Given the description of an element on the screen output the (x, y) to click on. 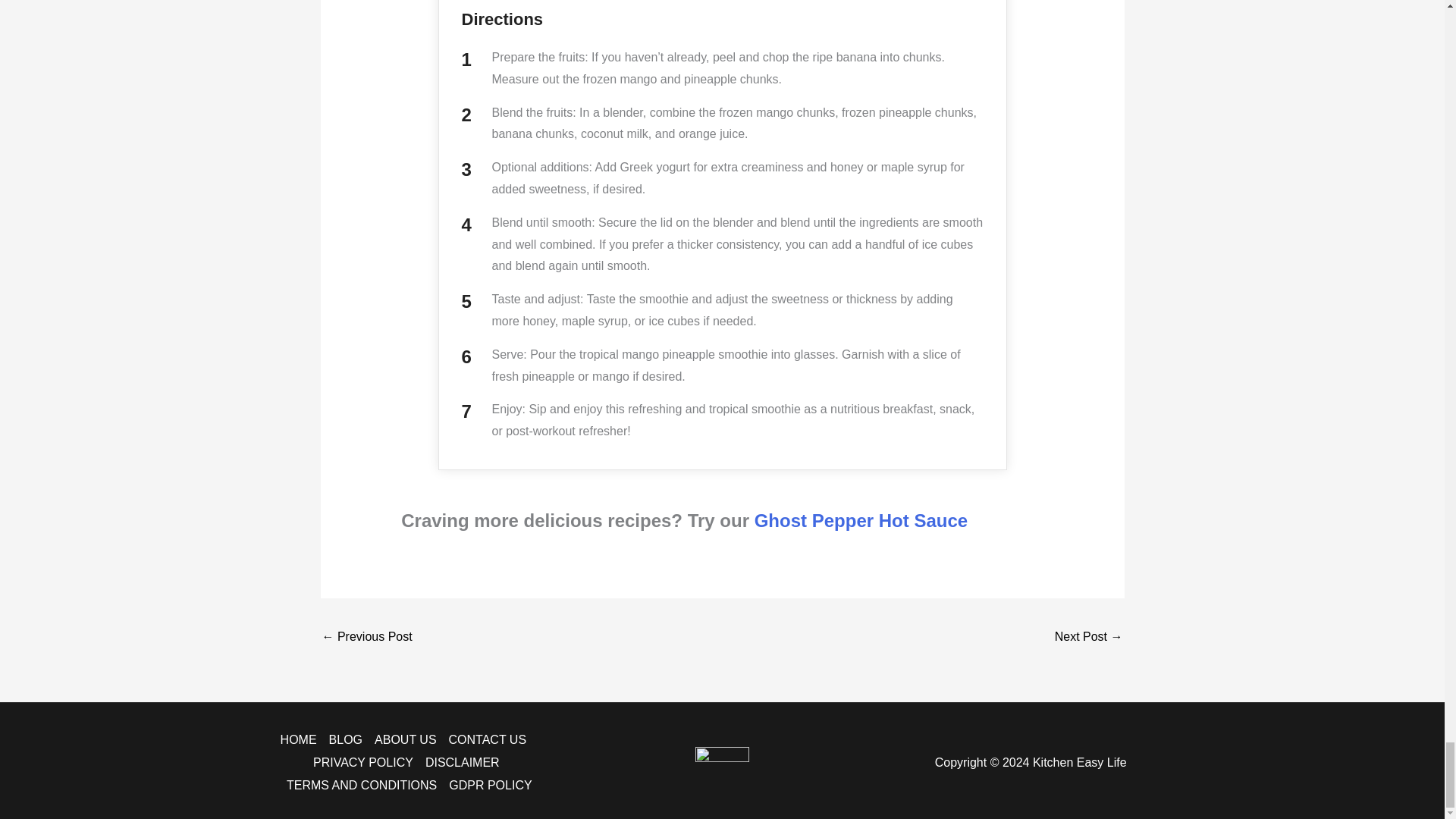
Ghost Pepper Hot Sauce (861, 520)
Can You Freeze Gyro Meat? Easy Homemade Greek Gyros (1088, 637)
How To Tell When Ghost Peppers Are Ripe: 2024 Guide (366, 637)
